Given the description of an element on the screen output the (x, y) to click on. 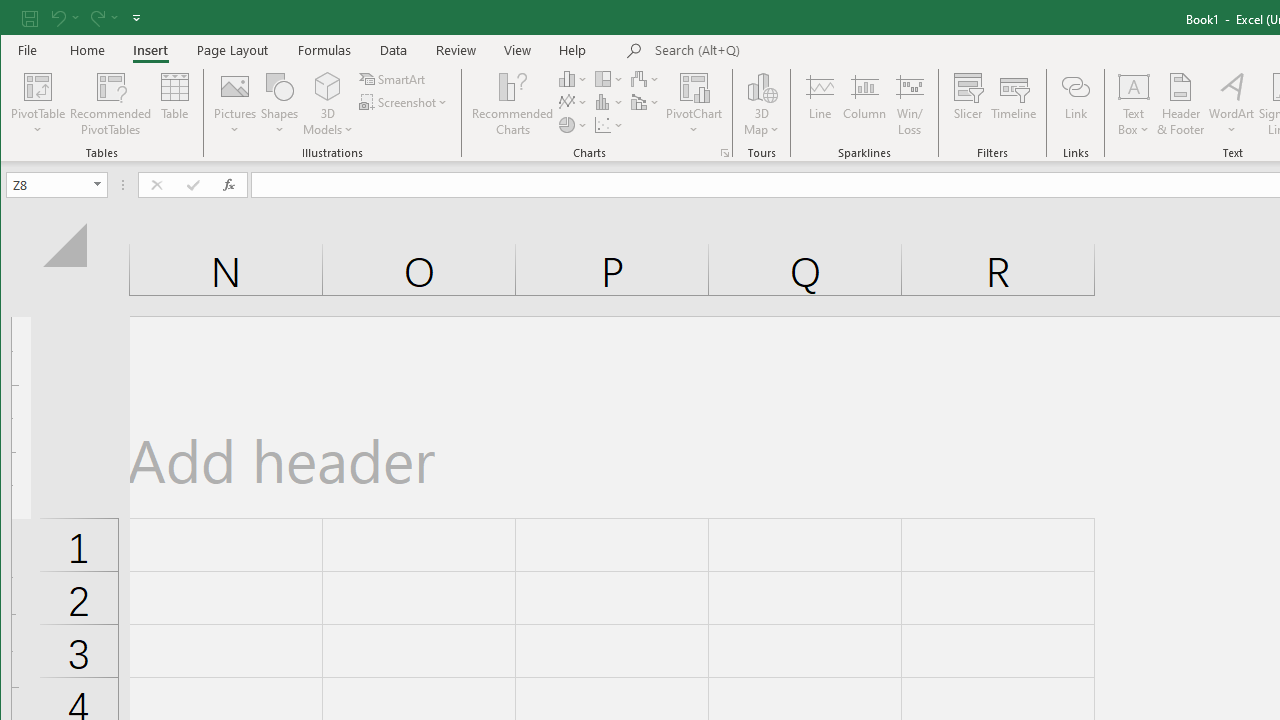
Column (864, 104)
Win/Loss (909, 104)
Table (174, 104)
3D Map (762, 104)
Draw Horizontal Text Box (1133, 86)
Header & Footer... (1180, 104)
Insert Column or Bar Chart (573, 78)
PivotChart (694, 86)
Insert Hierarchy Chart (609, 78)
